Given the description of an element on the screen output the (x, y) to click on. 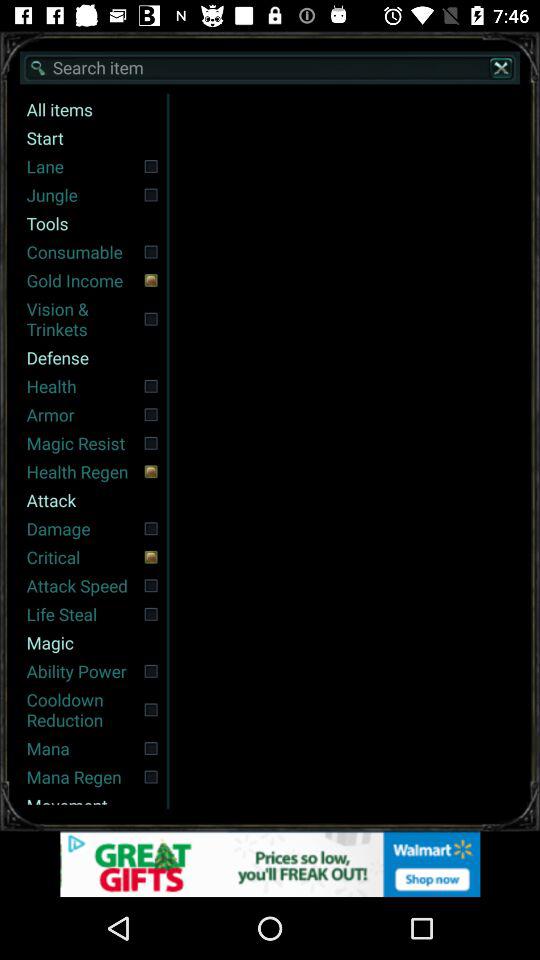
toggle the advertisement option (270, 864)
